Given the description of an element on the screen output the (x, y) to click on. 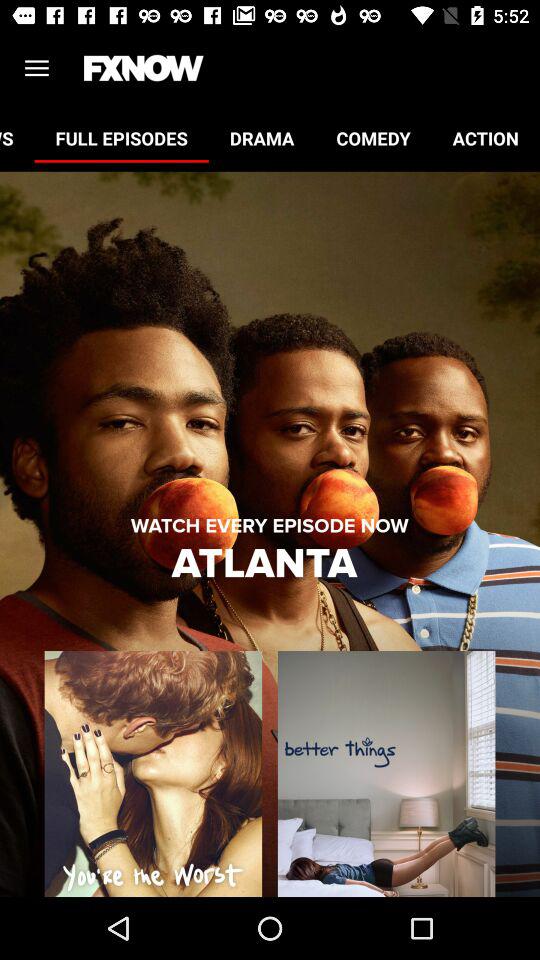
choose full episodes item (121, 138)
